Given the description of an element on the screen output the (x, y) to click on. 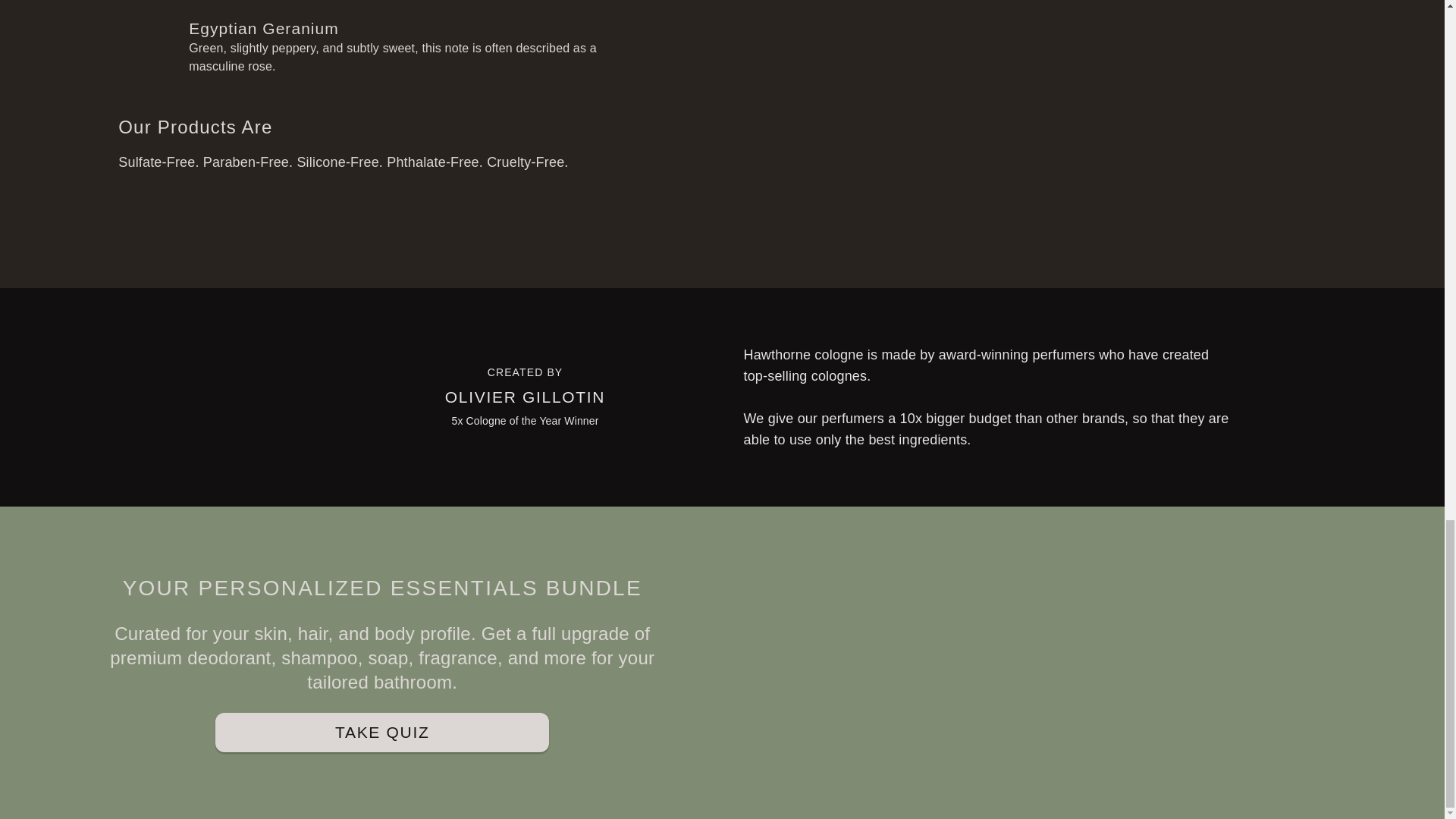
TAKE QUIZ (381, 732)
